Given the description of an element on the screen output the (x, y) to click on. 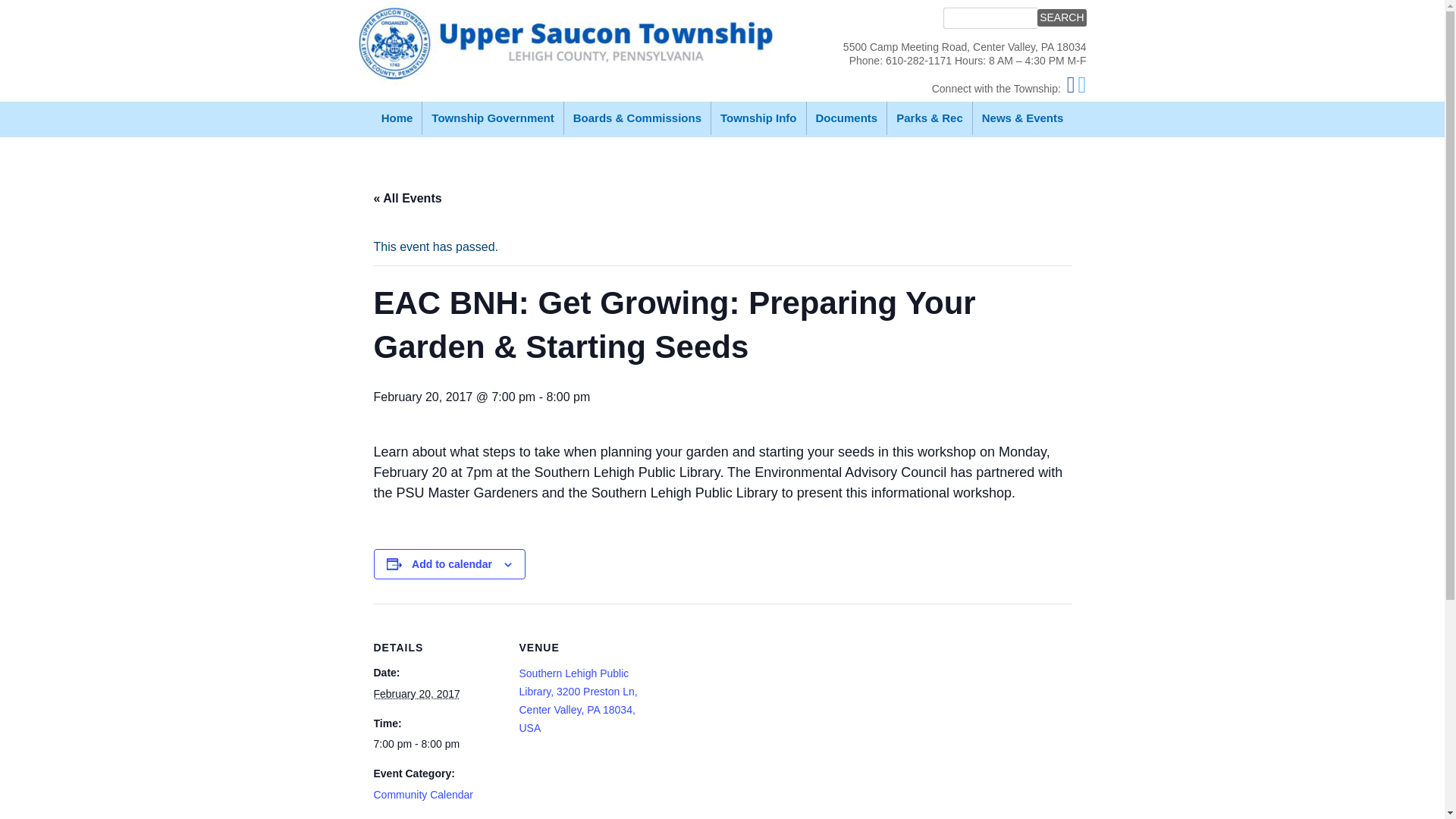
Search (1061, 17)
Township Government (492, 118)
Home (397, 118)
Township Info (758, 118)
2017-02-20 (416, 693)
2017-02-20 (436, 743)
Search (1061, 17)
